Given the description of an element on the screen output the (x, y) to click on. 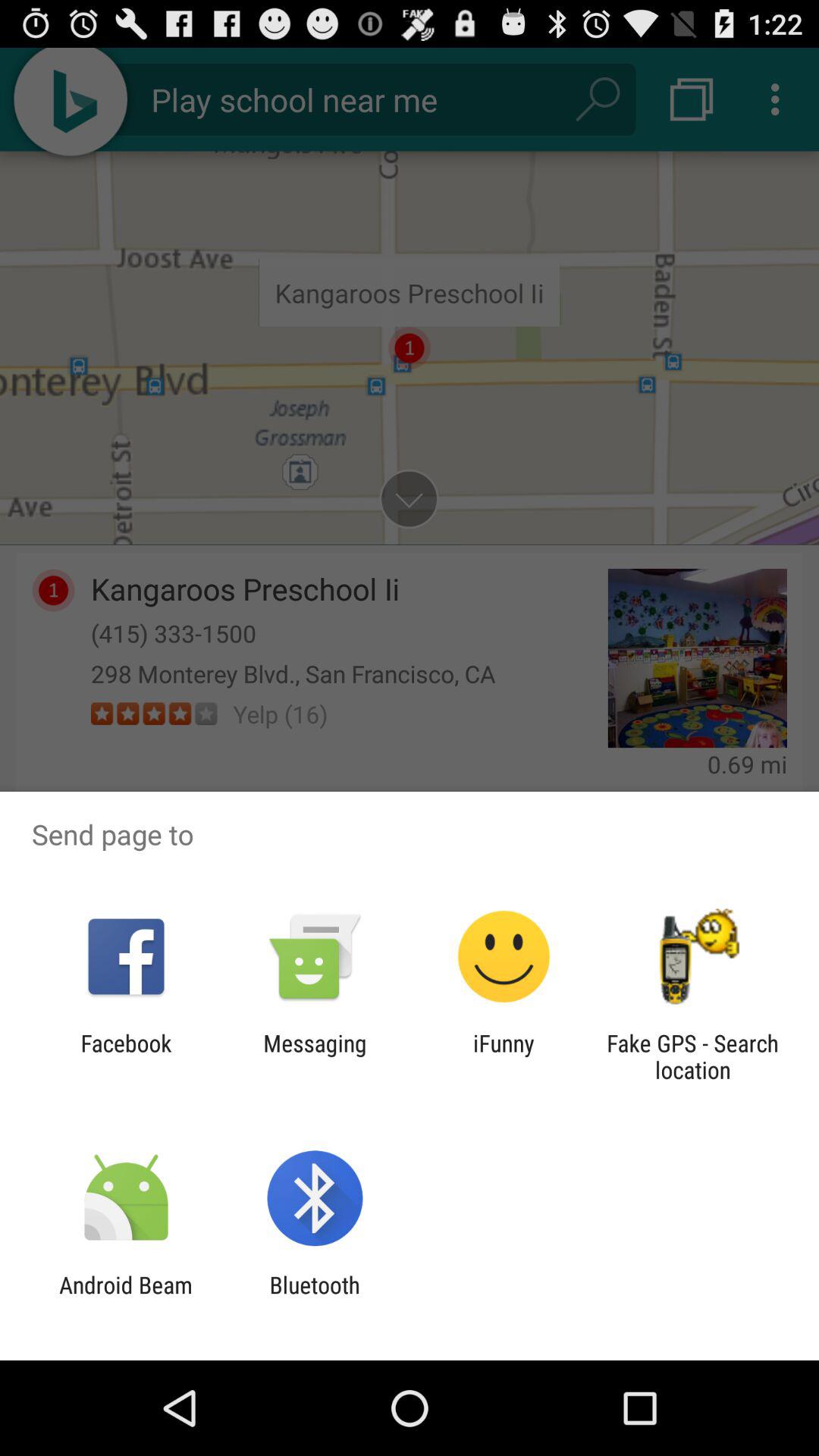
tap bluetooth icon (314, 1298)
